Given the description of an element on the screen output the (x, y) to click on. 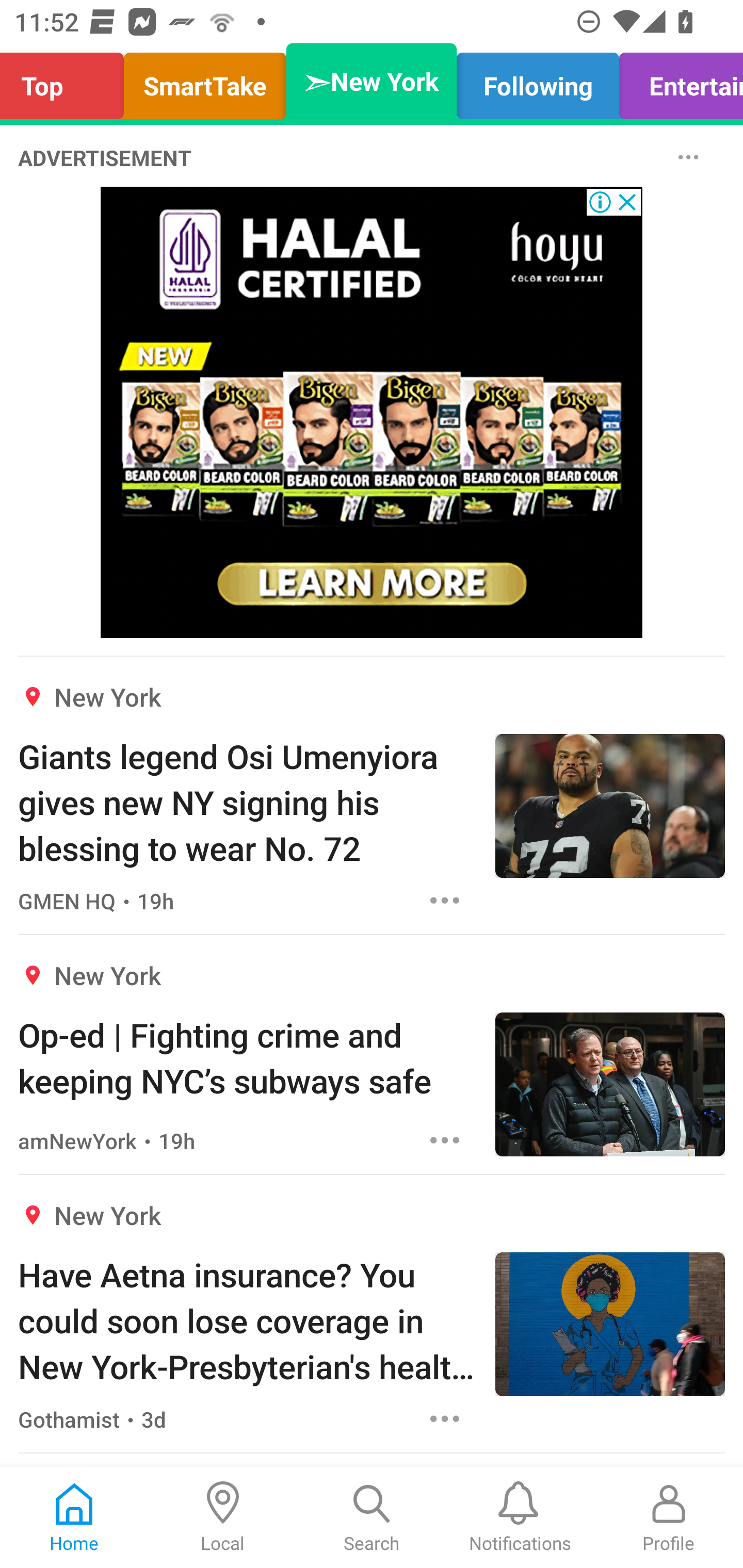
Top (67, 81)
SmartTake (204, 81)
➣New York (371, 81)
Following (537, 81)
Options (688, 157)
28 (371, 412)
Options (444, 900)
Options (444, 1139)
Options (444, 1418)
Local (222, 1517)
Search (371, 1517)
Notifications (519, 1517)
Profile (668, 1517)
